Given the description of an element on the screen output the (x, y) to click on. 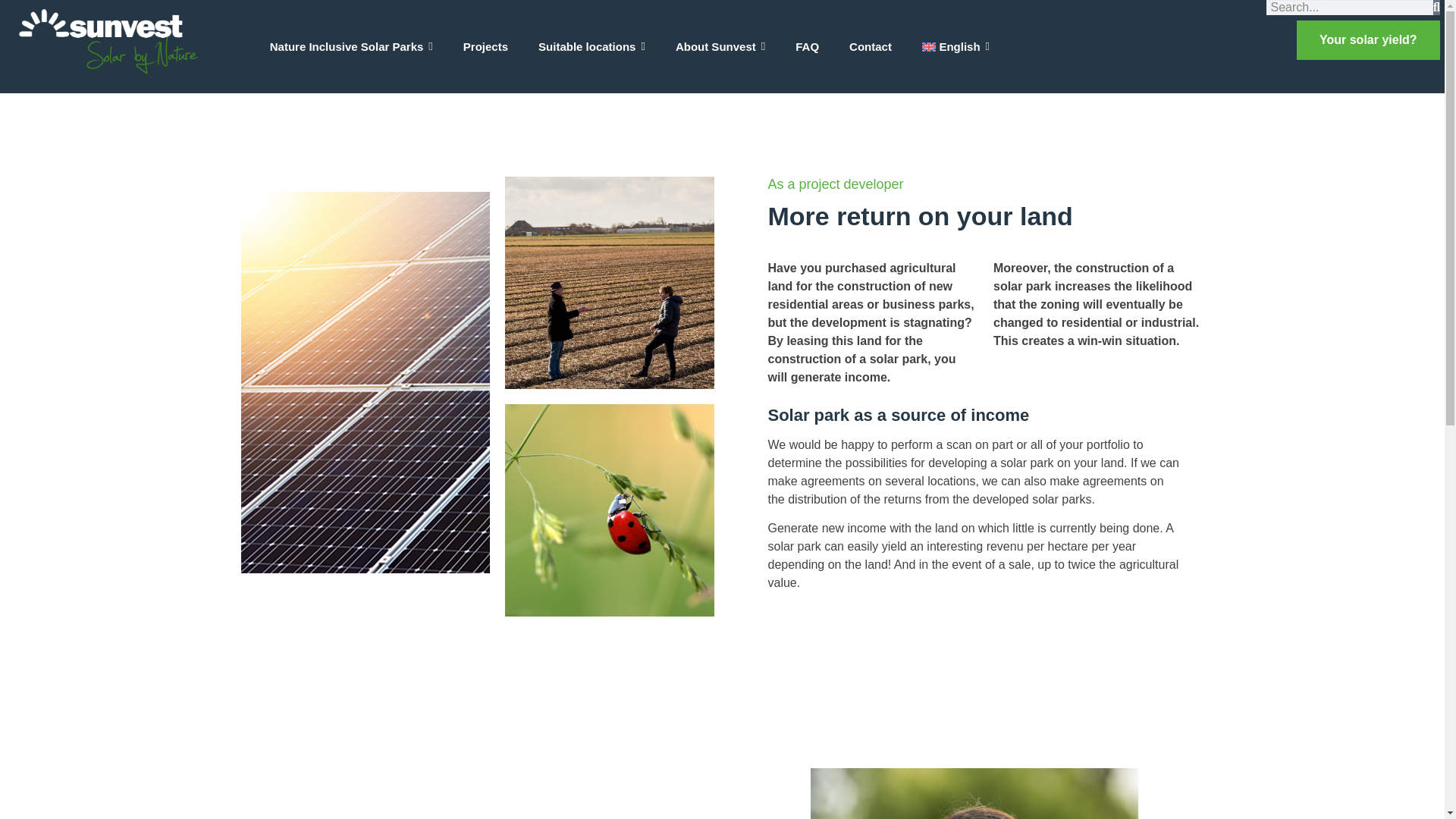
Nature Inclusive Solar Parks (351, 46)
About Sunvest (720, 46)
English (955, 46)
Projects (485, 46)
Suitable locations (591, 46)
Contact (870, 46)
English (955, 46)
